Given the description of an element on the screen output the (x, y) to click on. 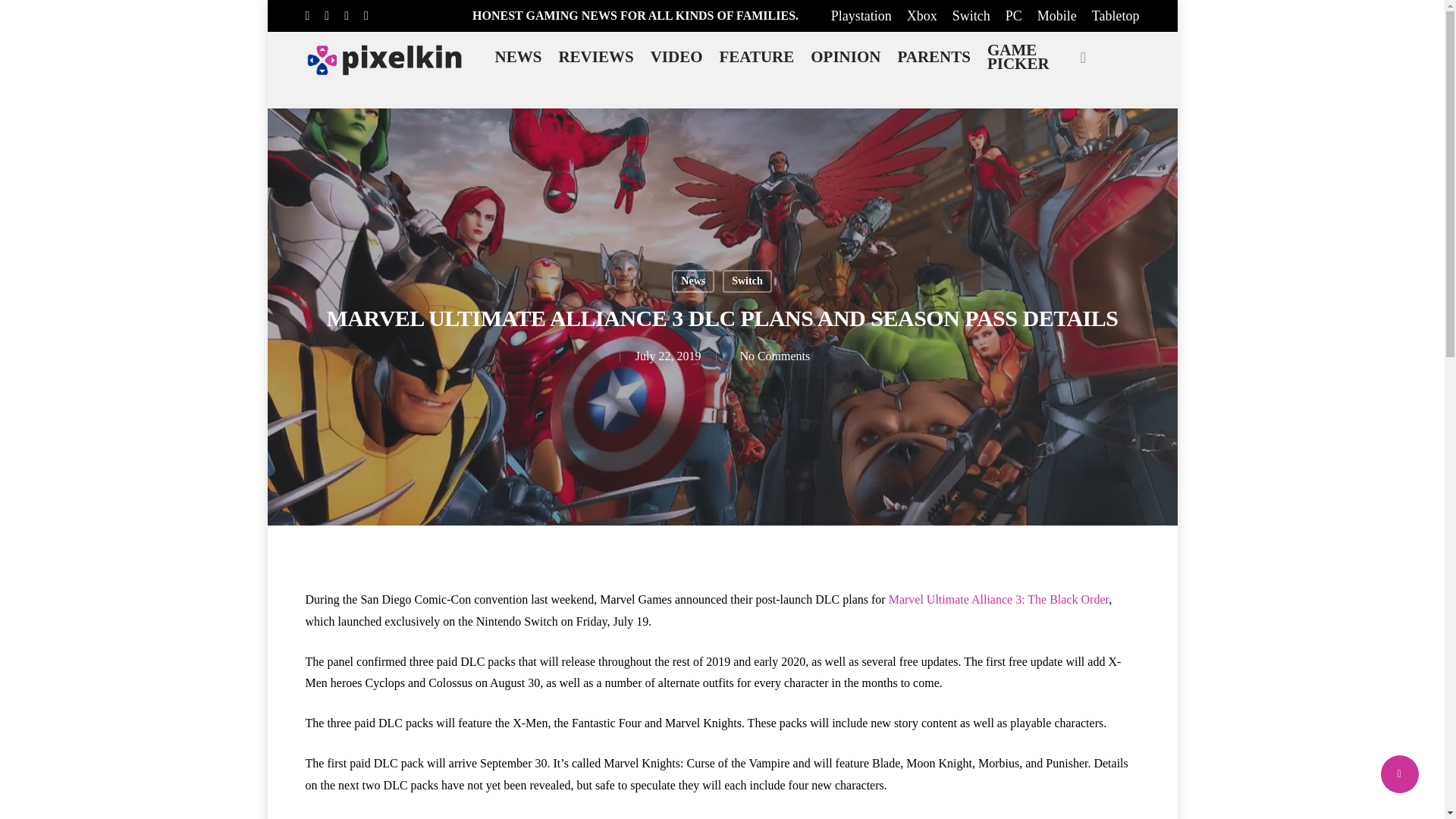
Tabletop (1116, 15)
FEATURE (755, 56)
PC (1014, 15)
REVIEWS (595, 56)
PARENTS (933, 56)
Xbox (922, 15)
News (692, 281)
No Comments (770, 355)
Playstation (861, 15)
OPINION (844, 56)
